Given the description of an element on the screen output the (x, y) to click on. 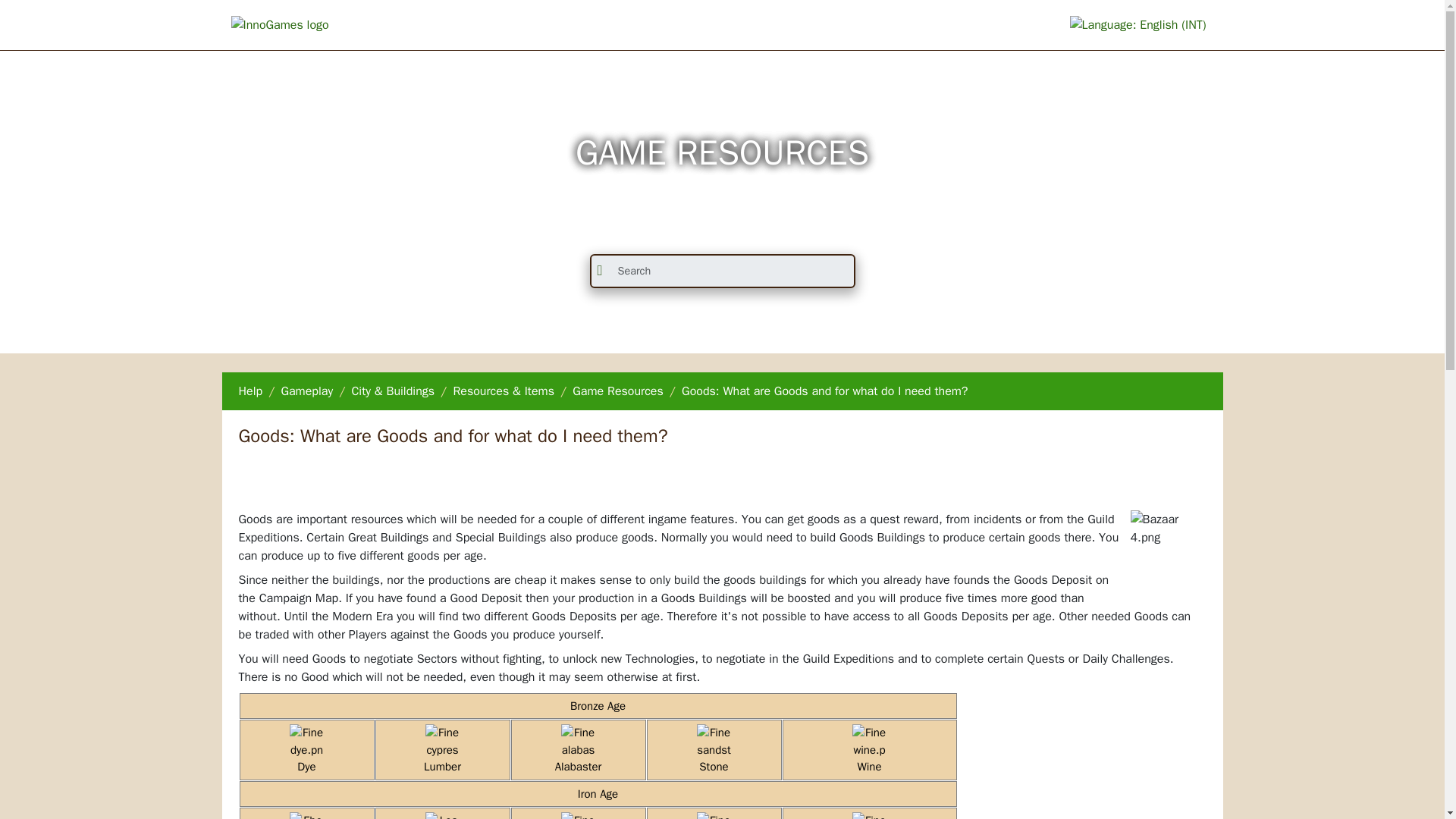
Help (250, 391)
Goods: What are Goods and for what do I need them? (824, 391)
Gameplay (307, 391)
Game Resources (617, 391)
